Given the description of an element on the screen output the (x, y) to click on. 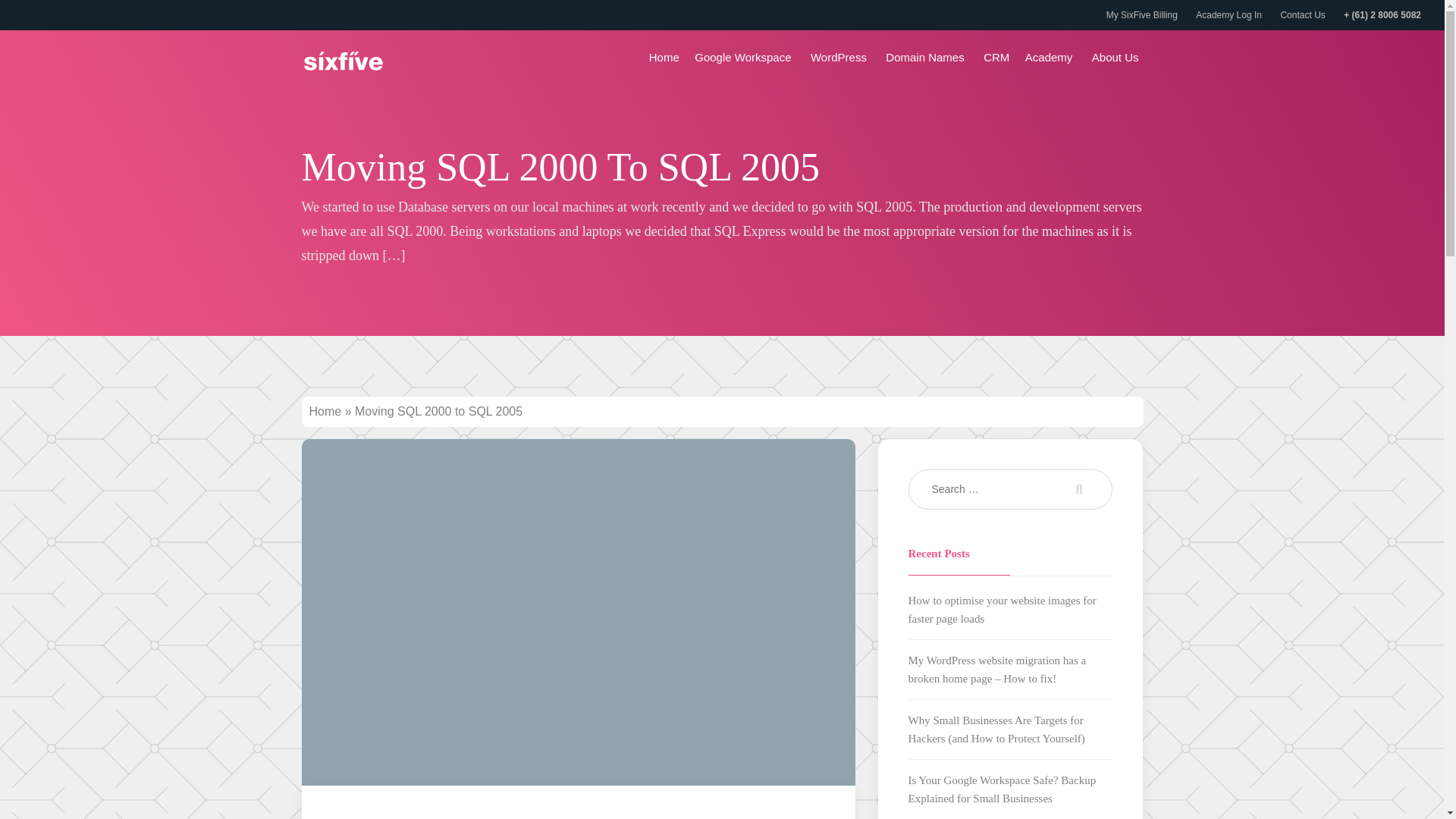
WordPress (840, 56)
Domain Names (926, 56)
Google Workspace (744, 56)
Home (325, 410)
Contact Us (1301, 14)
Search (1075, 488)
Academy (1051, 56)
My SixFive Billing (1141, 14)
About Us (1117, 56)
Academy Log In (1228, 14)
